Given the description of an element on the screen output the (x, y) to click on. 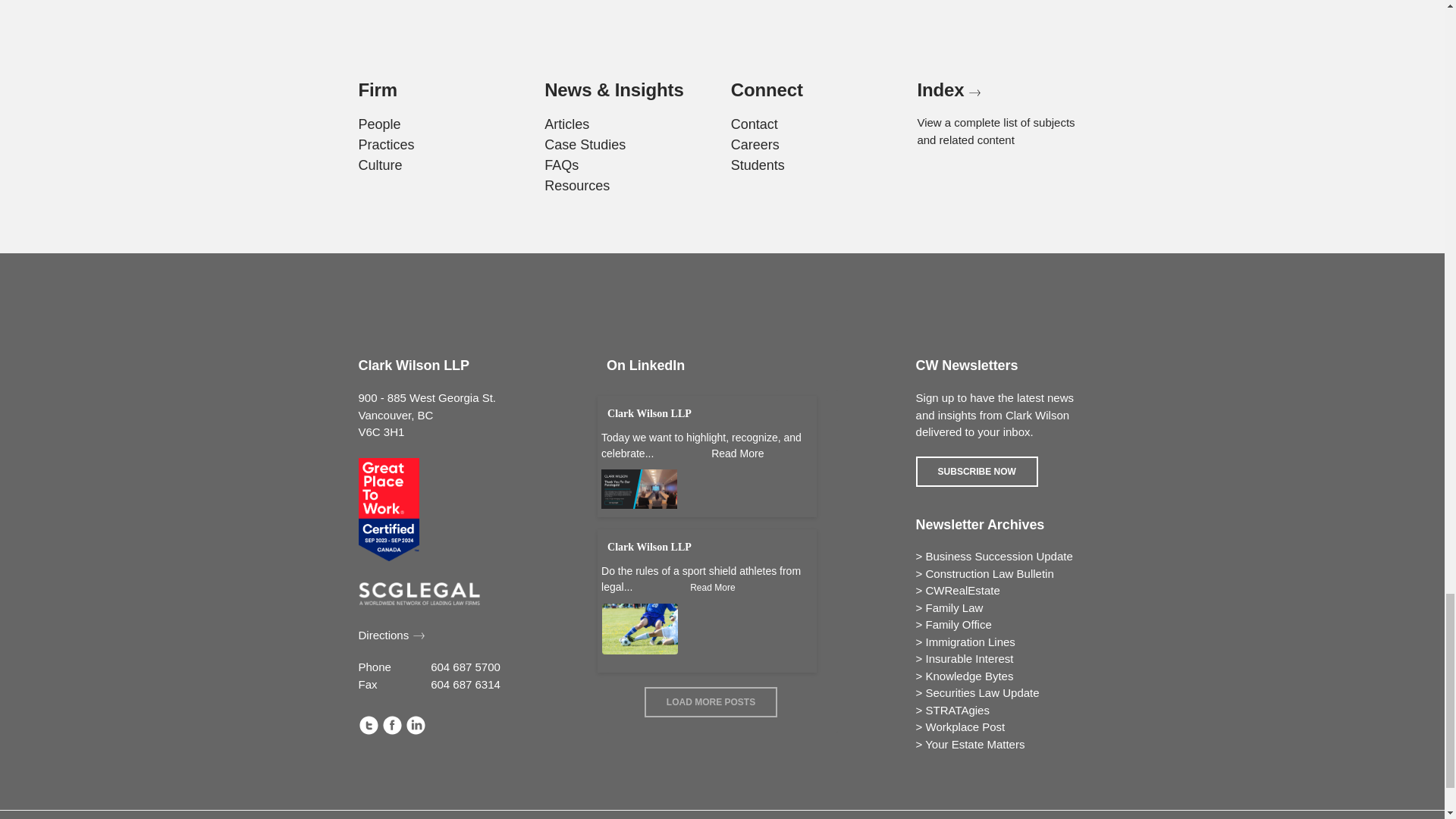
FAQs (561, 165)
People (379, 124)
Articles (566, 124)
Practices (385, 144)
Clark Wilson LLP (649, 413)
Culture (379, 165)
Case Studies (585, 144)
Clark Wilson LLP (649, 546)
